Given the description of an element on the screen output the (x, y) to click on. 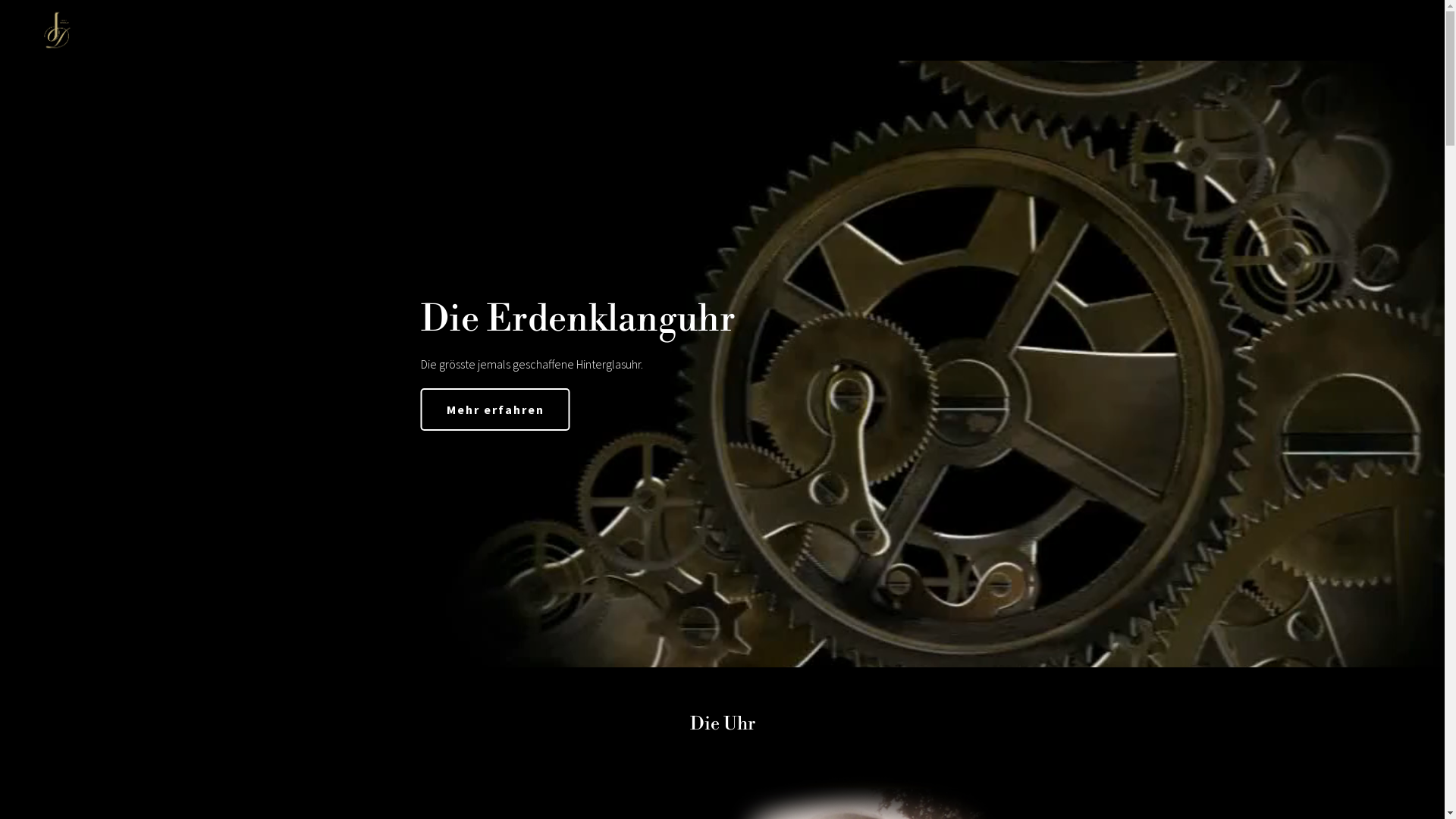
Mehr erfahren Element type: text (494, 409)
